Given the description of an element on the screen output the (x, y) to click on. 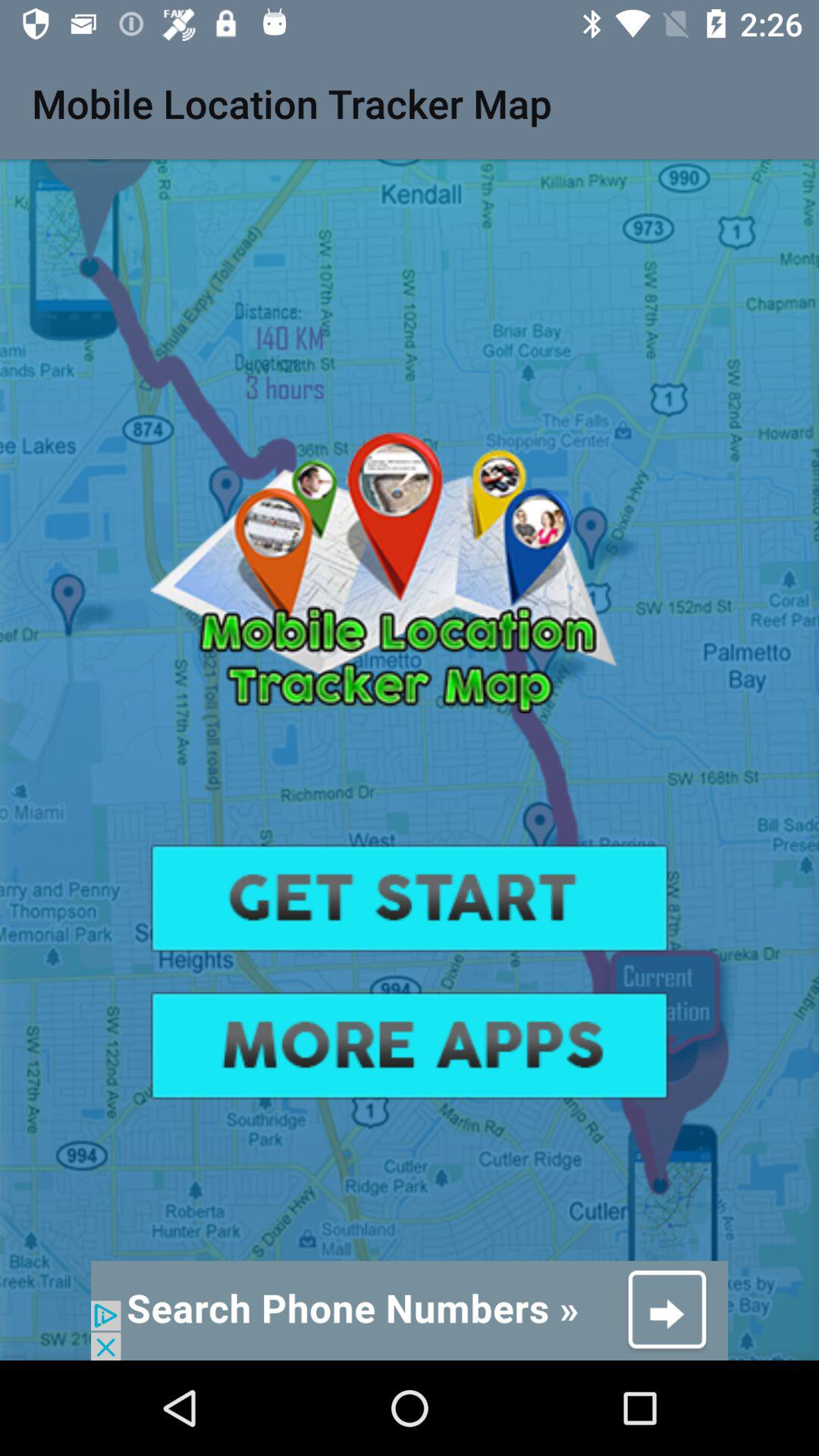
adventisment page (409, 1310)
